Given the description of an element on the screen output the (x, y) to click on. 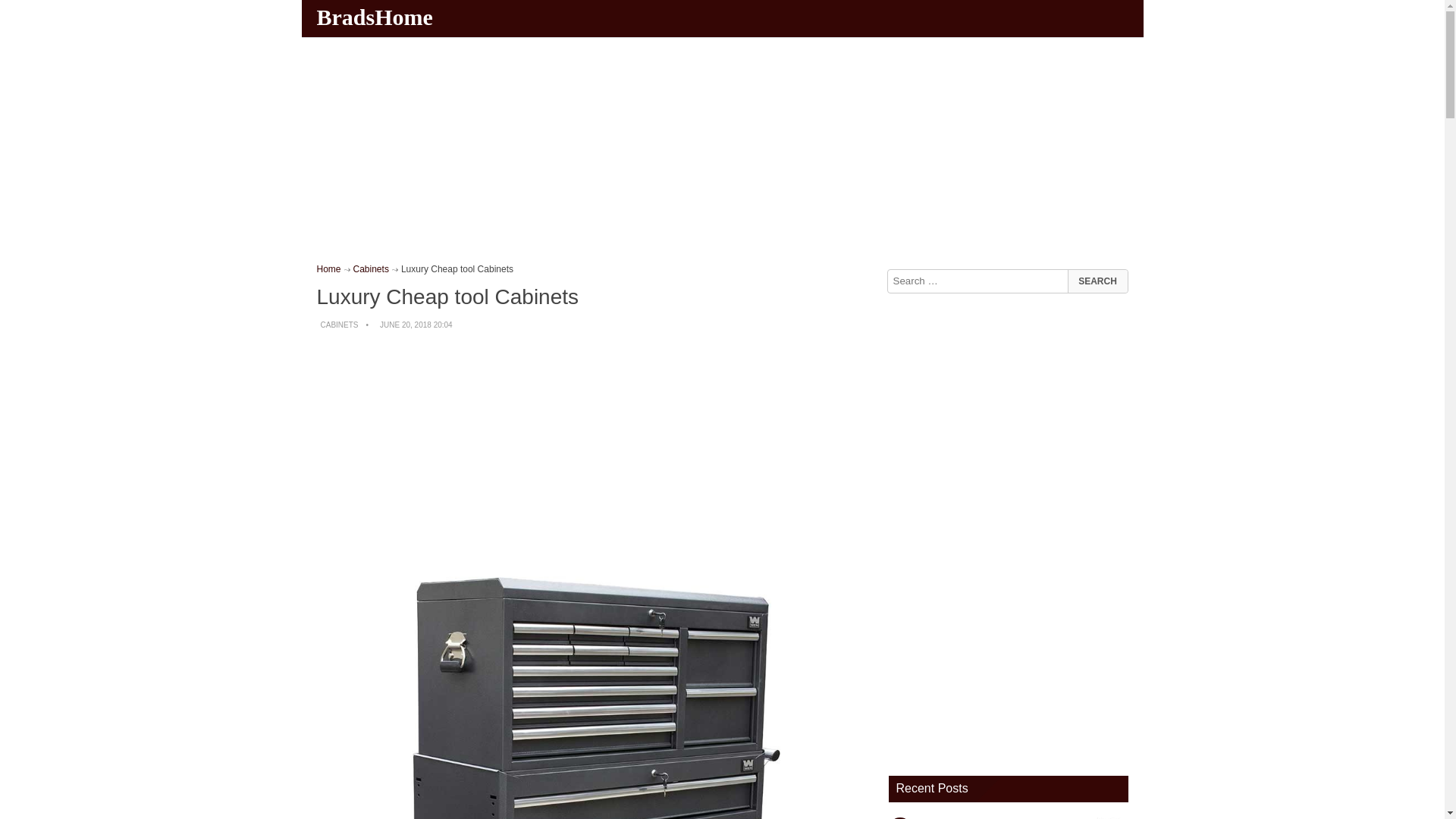
CABINETS (339, 325)
Advertisement (595, 449)
Cabinets (370, 268)
Search (1096, 281)
Search (1096, 281)
Home (328, 268)
BradsHome (376, 16)
